Given the description of an element on the screen output the (x, y) to click on. 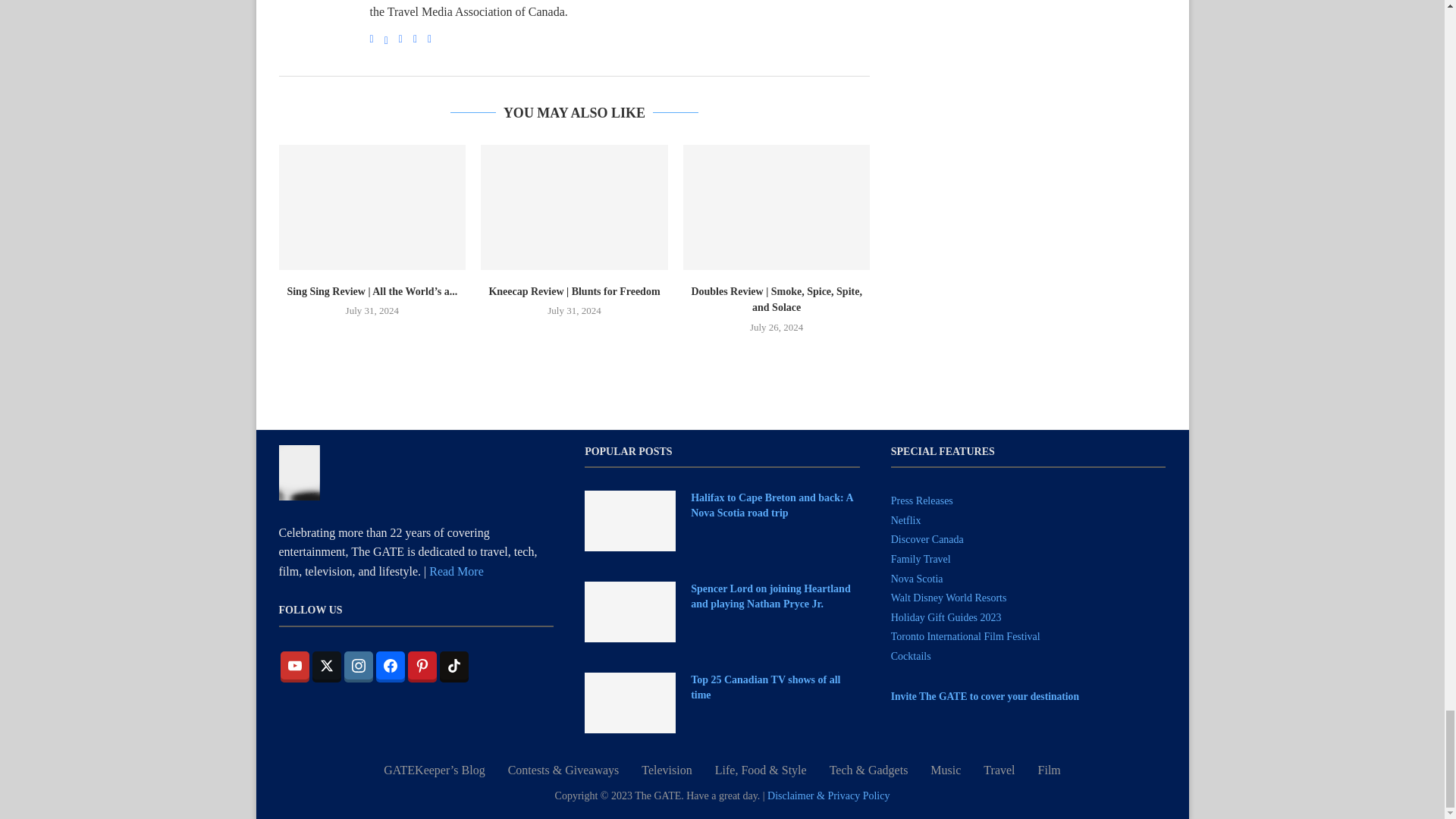
Halifax to Cape Breton and back: A Nova Scotia road trip (775, 505)
Halifax to Cape Breton and back: A Nova Scotia road trip (630, 520)
